Given the description of an element on the screen output the (x, y) to click on. 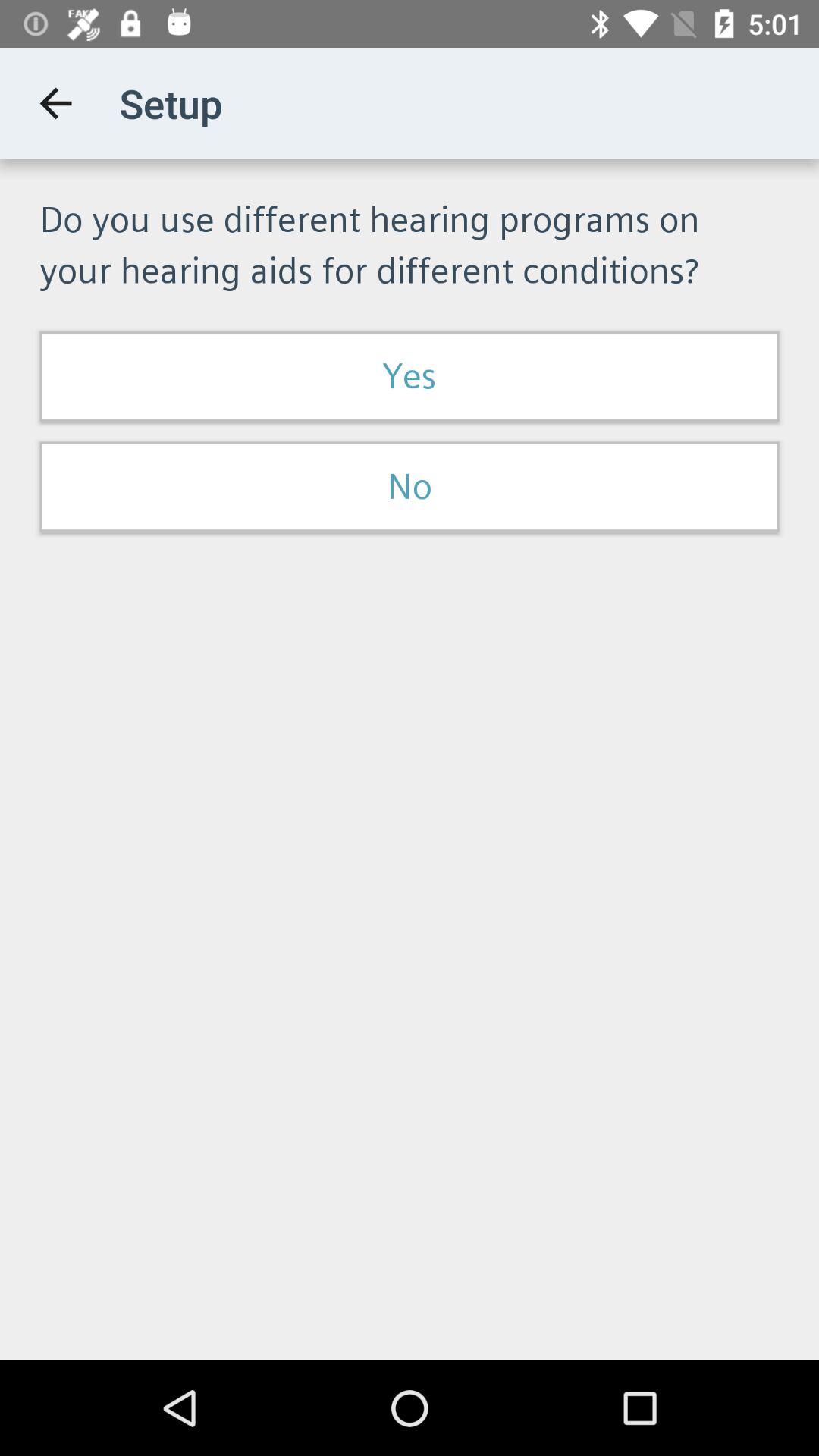
tap the icon above do you use (55, 103)
